Given the description of an element on the screen output the (x, y) to click on. 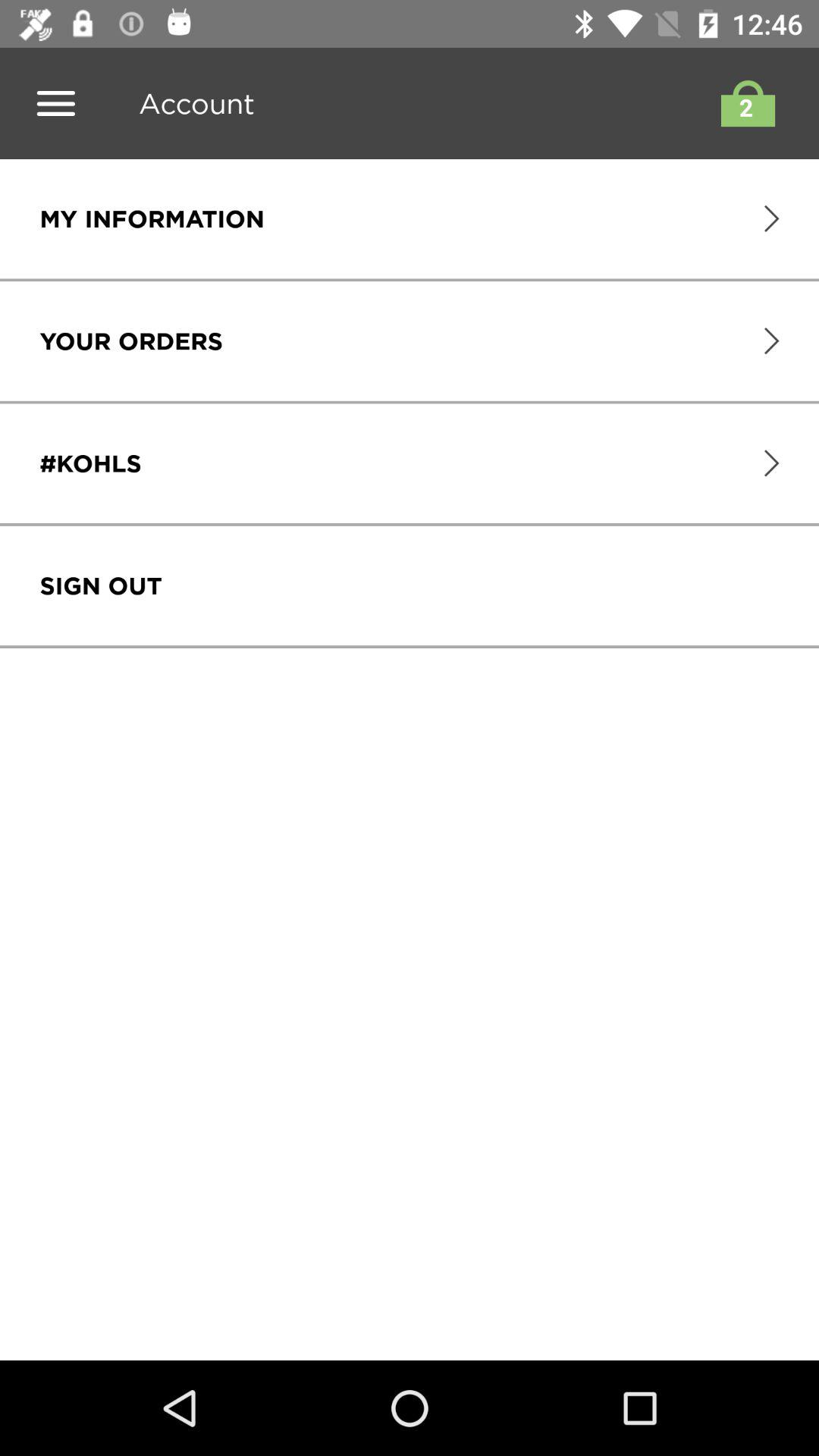
swipe until my information (151, 218)
